Given the description of an element on the screen output the (x, y) to click on. 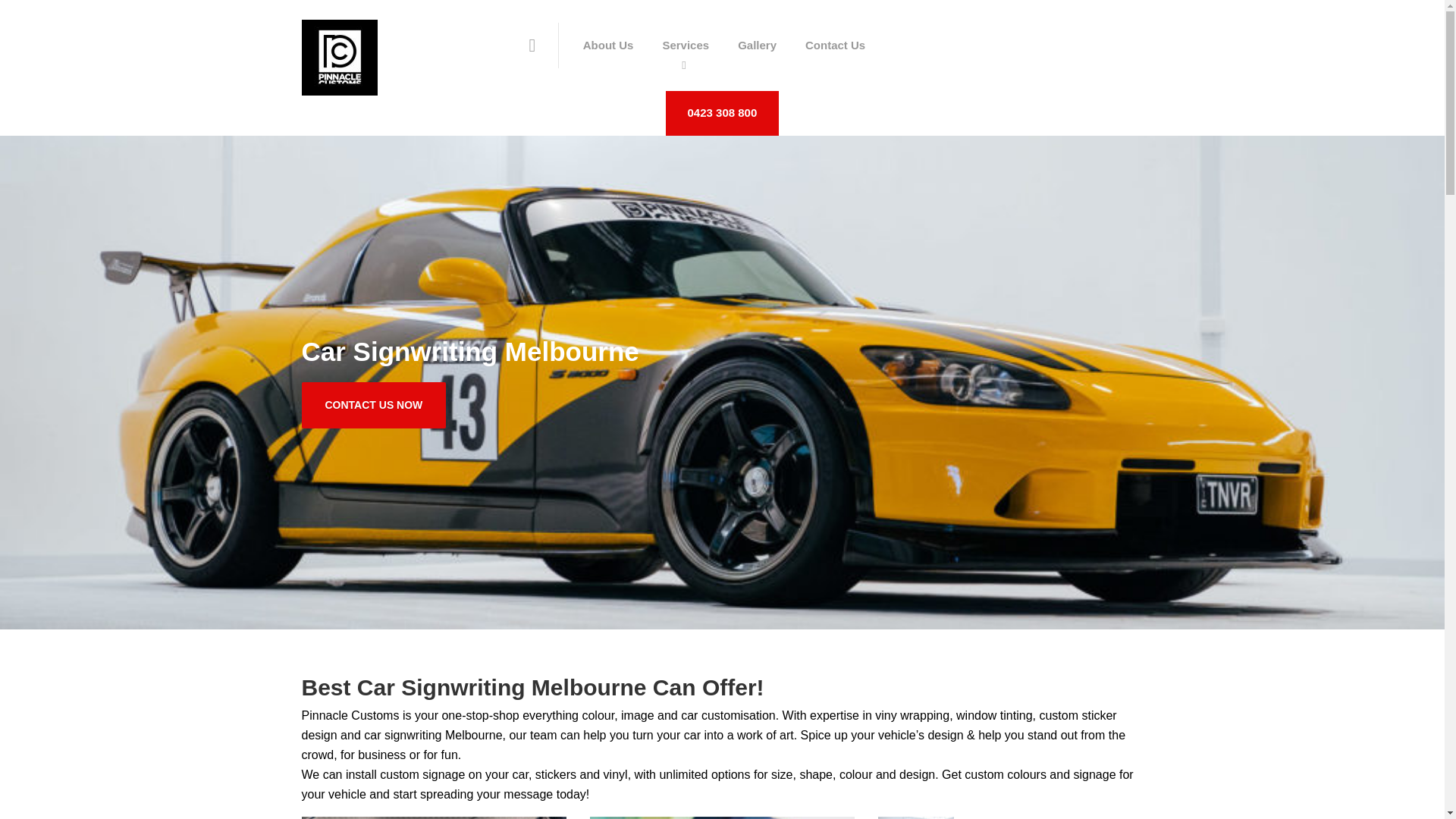
0423 308 800 (721, 112)
Contact Us (834, 45)
CONTACT US NOW (373, 405)
